Given the description of an element on the screen output the (x, y) to click on. 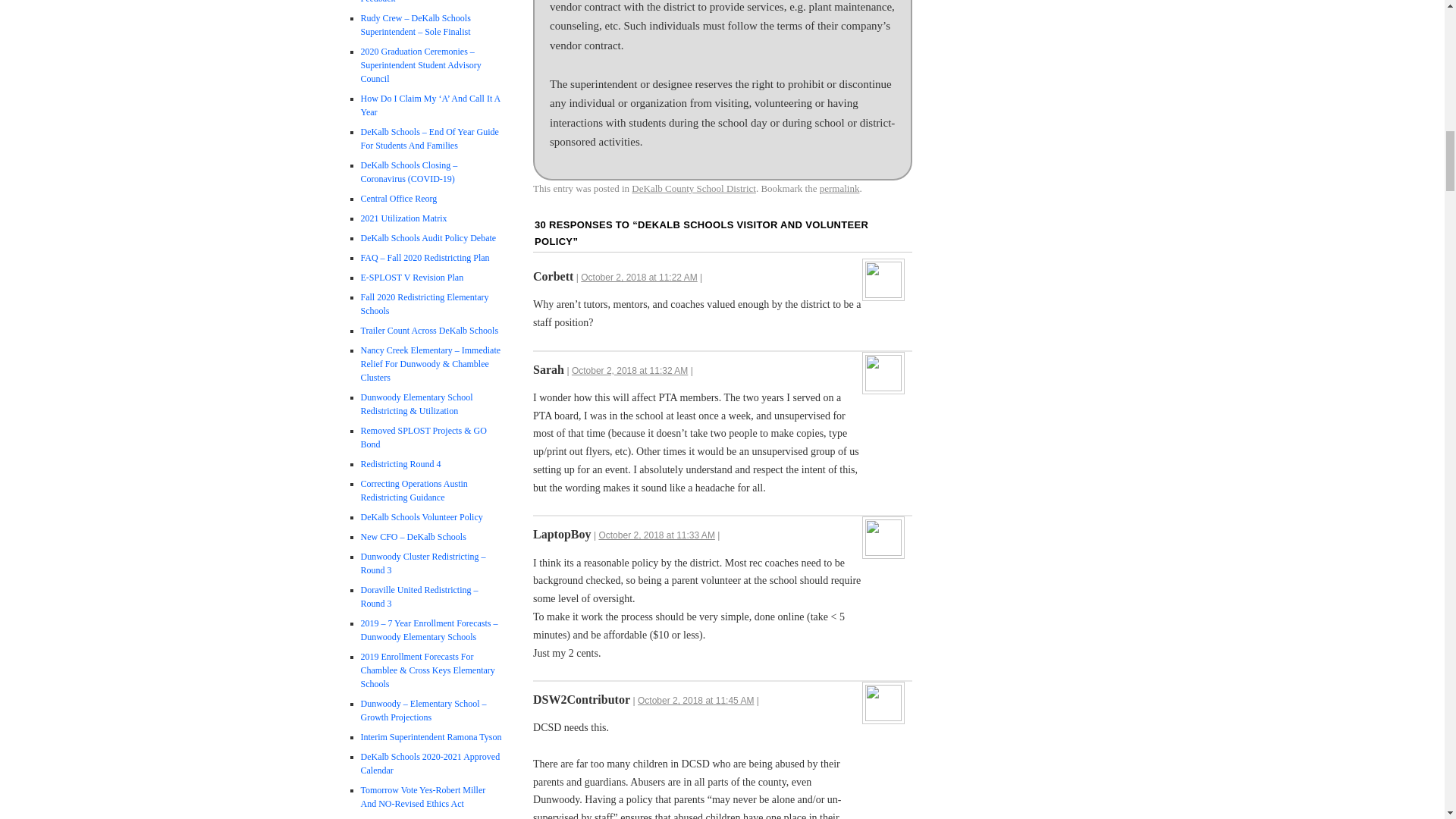
October 2, 2018 at 11:33 AM (656, 534)
October 2, 2018 at 11:22 AM (638, 276)
October 2, 2018 at 11:32 AM (629, 370)
October 2, 2018 at 11:45 AM (695, 700)
DeKalb County School District (693, 188)
permalink (839, 188)
Permalink to DeKalb Schools Visitor and Volunteer Policy (839, 188)
